Given the description of an element on the screen output the (x, y) to click on. 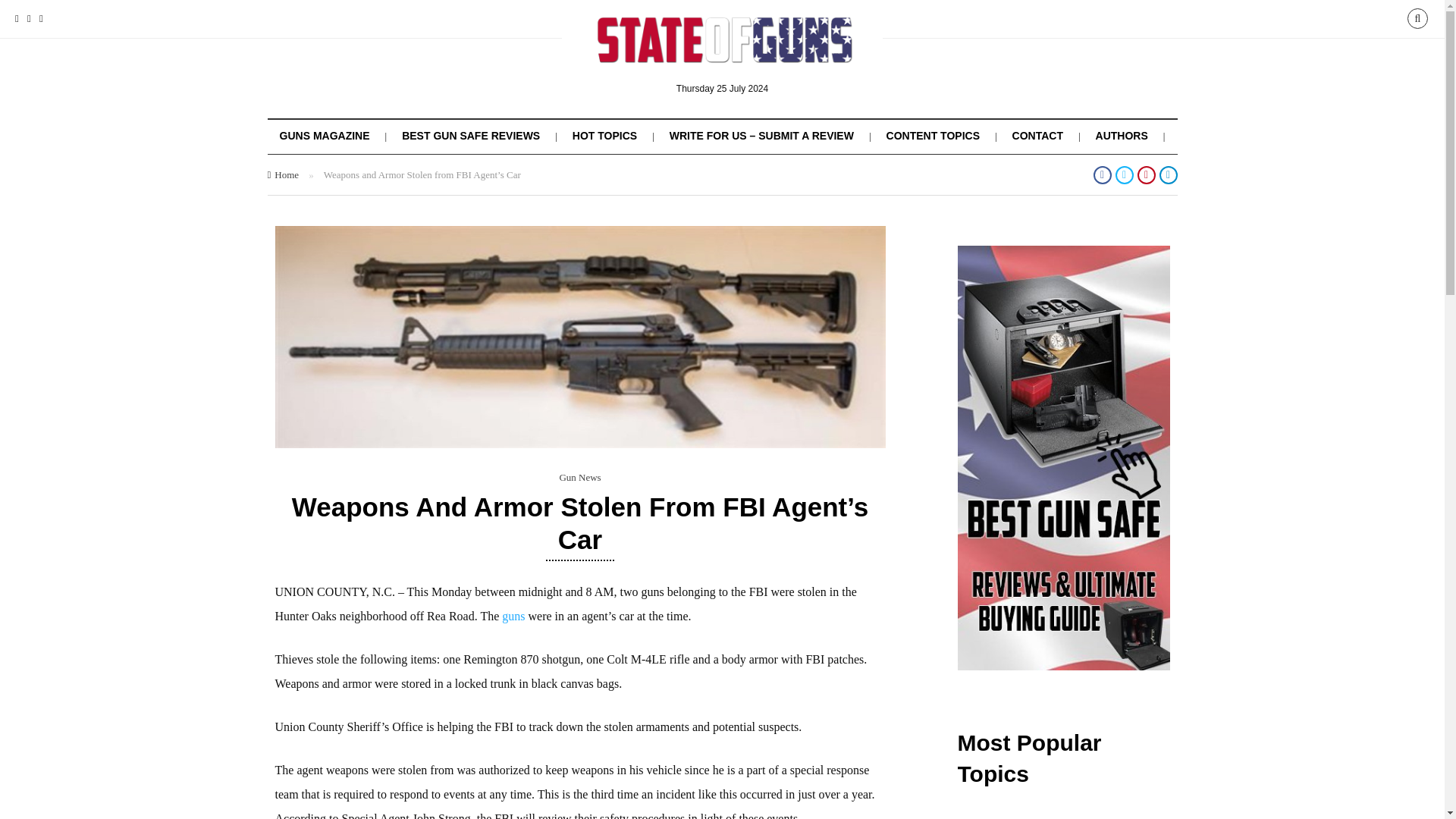
BEST GUN SAFE REVIEWS (470, 135)
CONTENT TOPICS (932, 135)
GUNS MAGAZINE (324, 135)
Pinterest (41, 18)
HOT TOPICS (604, 135)
State of Guns (722, 52)
Facebook (16, 18)
instagram (28, 18)
